Given the description of an element on the screen output the (x, y) to click on. 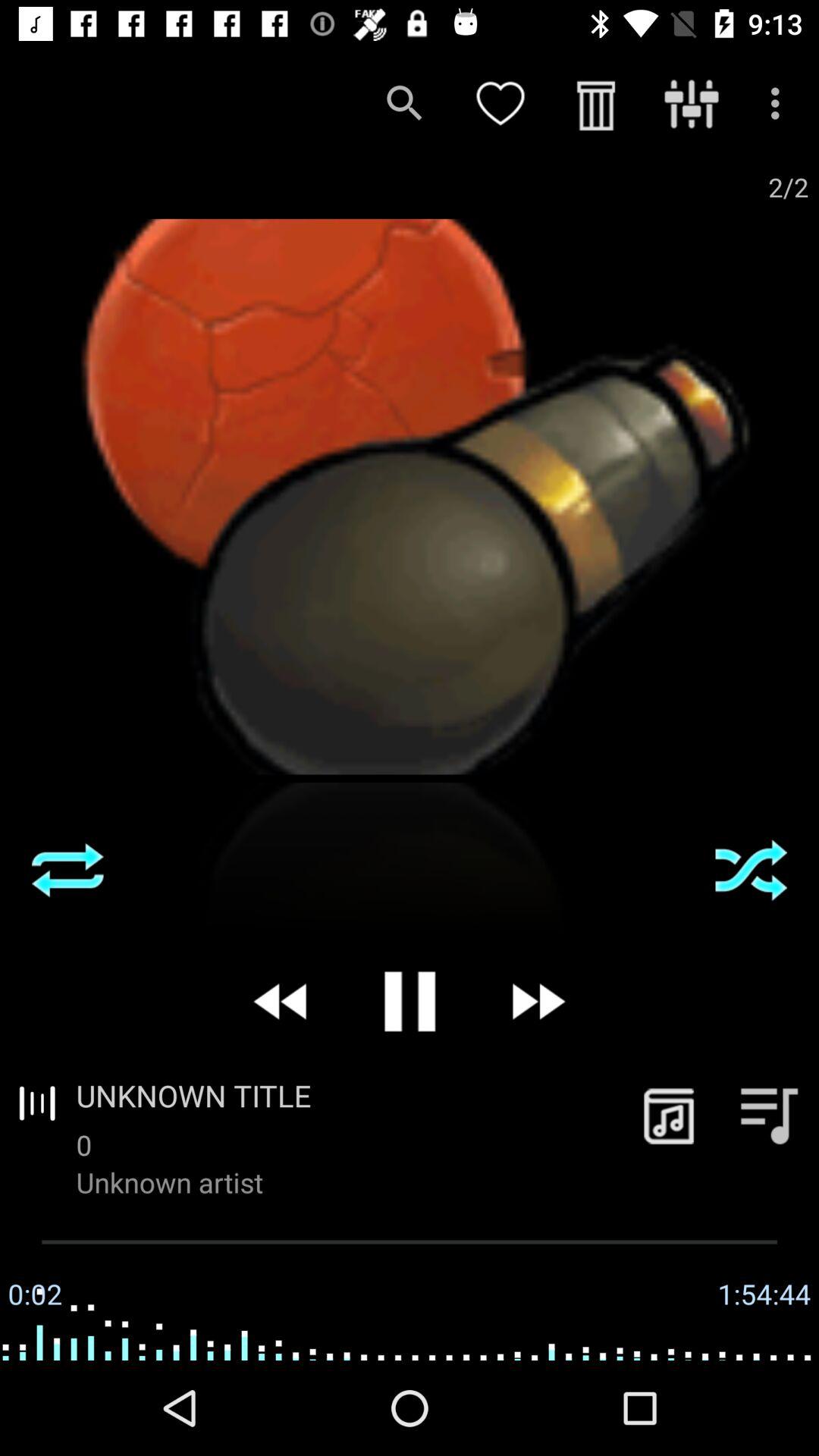
reply song (67, 869)
